Given the description of an element on the screen output the (x, y) to click on. 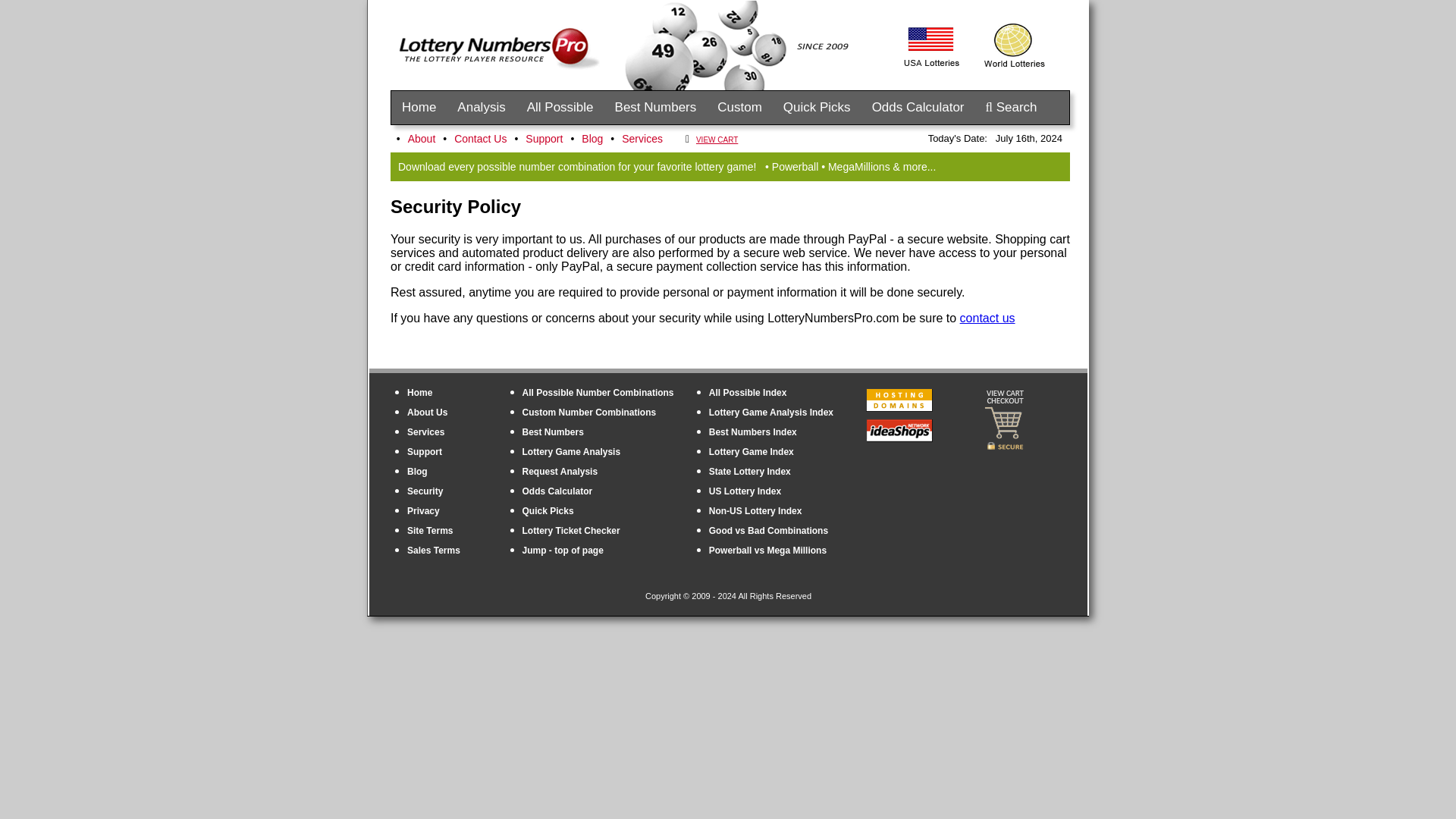
Services (641, 138)
About Us (426, 412)
Odds Calculator (557, 491)
All Possible Number Combinations (598, 392)
Privacy (423, 511)
Security (424, 491)
Home (419, 392)
Site Terms (429, 530)
Contact Us (479, 138)
Lottery Game Analysis Index (770, 412)
contact us (986, 318)
Quick Picks (817, 107)
Odds Calculator (918, 107)
Jump - top of page (563, 550)
Blog (417, 471)
